Given the description of an element on the screen output the (x, y) to click on. 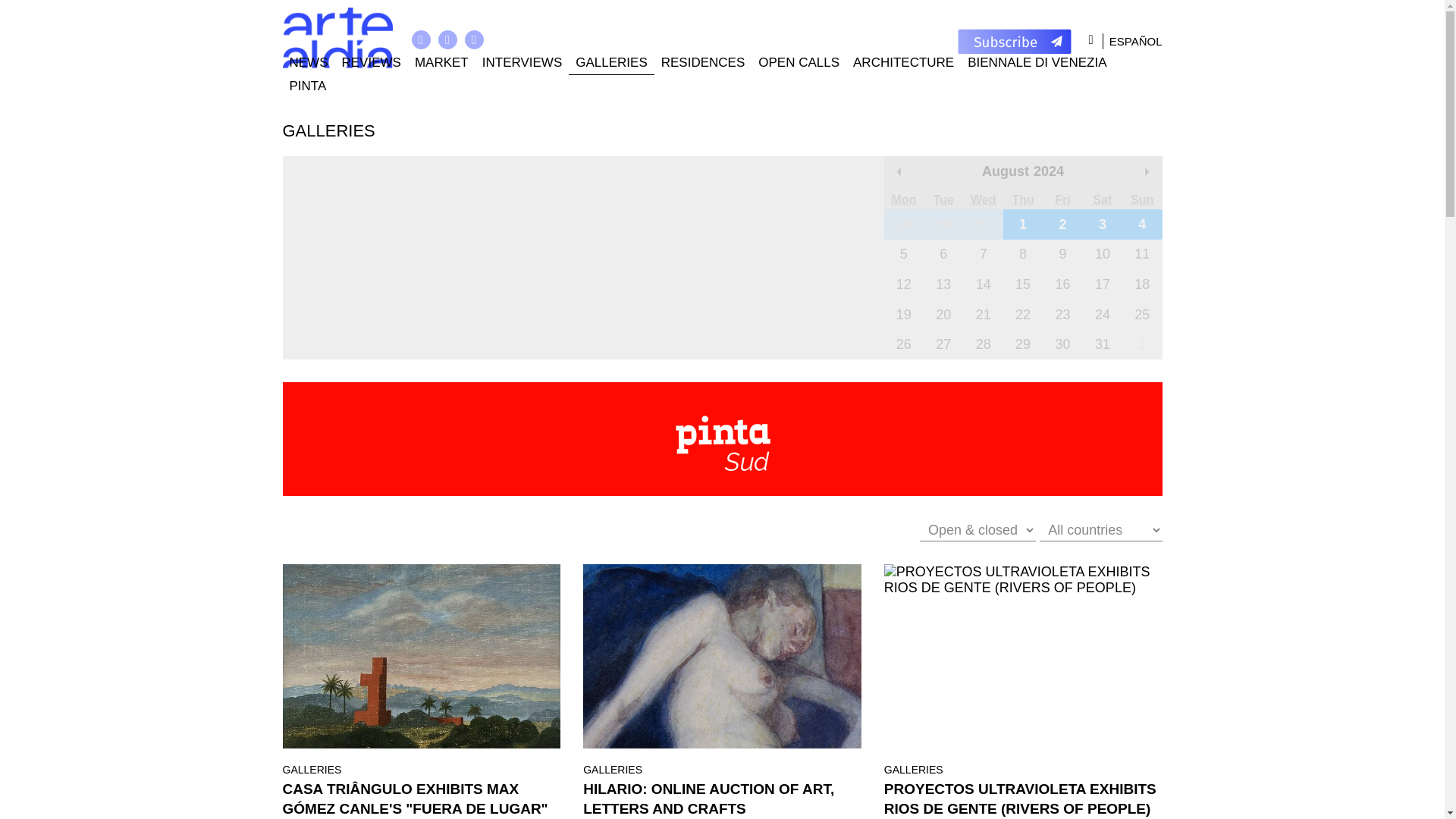
16 (1061, 284)
HILARIO: ONLINE AUCTION OF ART, LETTERS AND CRAFTS (722, 656)
Friday (1062, 199)
9 (1061, 254)
5 (903, 254)
Home (336, 37)
Thursday (1022, 199)
10 (1102, 254)
GALLERIES (611, 63)
INTERVIEWS (522, 63)
Monday (903, 199)
Saturday (1102, 199)
7 (982, 254)
Tuesday (943, 199)
MARKET (441, 63)
